Given the description of an element on the screen output the (x, y) to click on. 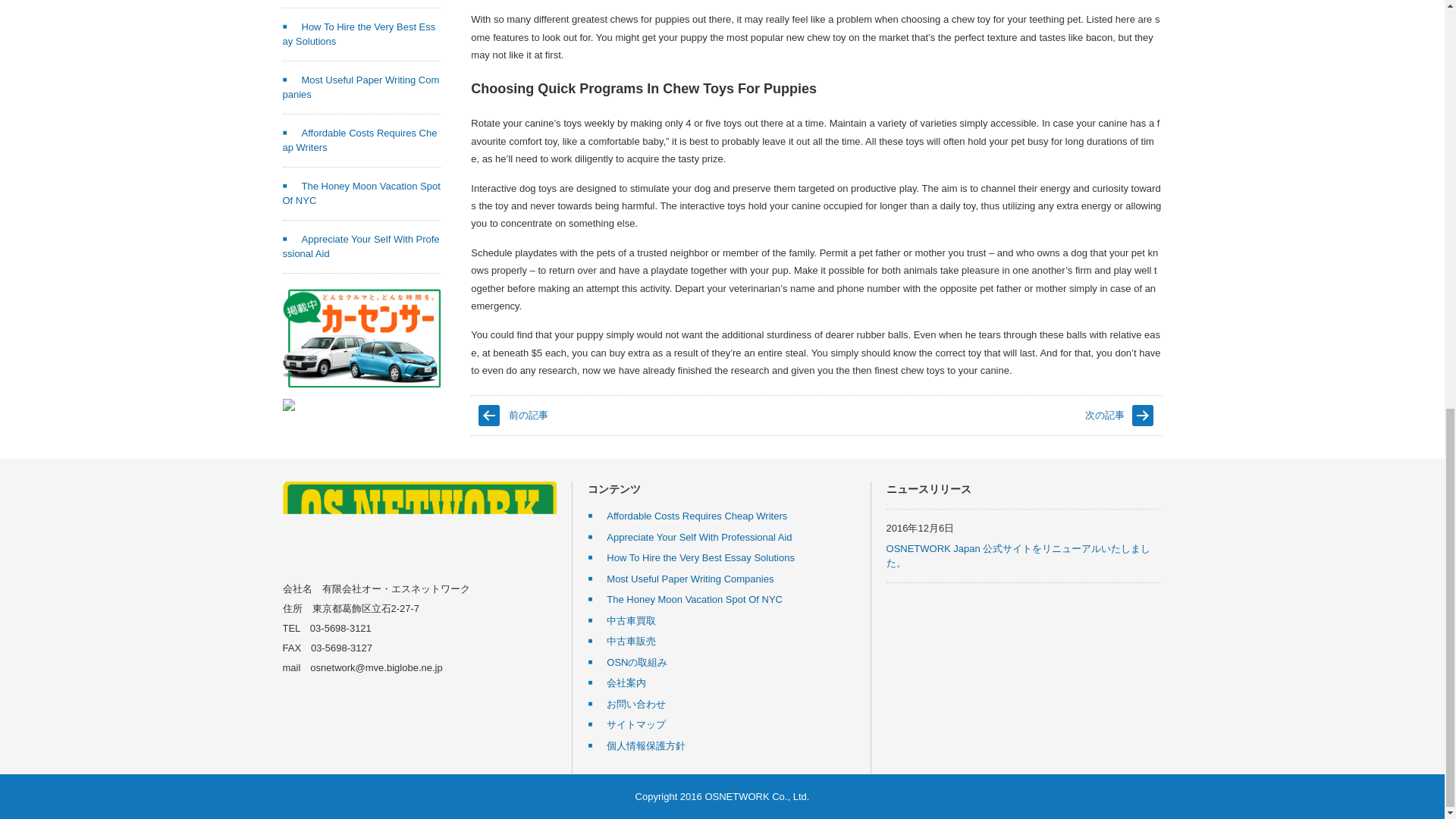
Most Useful Paper Writing Companies (360, 87)
The Honey Moon Vacation Spot Of NYC (360, 193)
How To Hire the Very Best Essay Solutions (358, 34)
Affordable Costs Requires Cheap Writers (359, 140)
Affordable Costs Requires Cheap Writers (687, 515)
Appreciate Your Self With Professional Aid (360, 246)
